Given the description of an element on the screen output the (x, y) to click on. 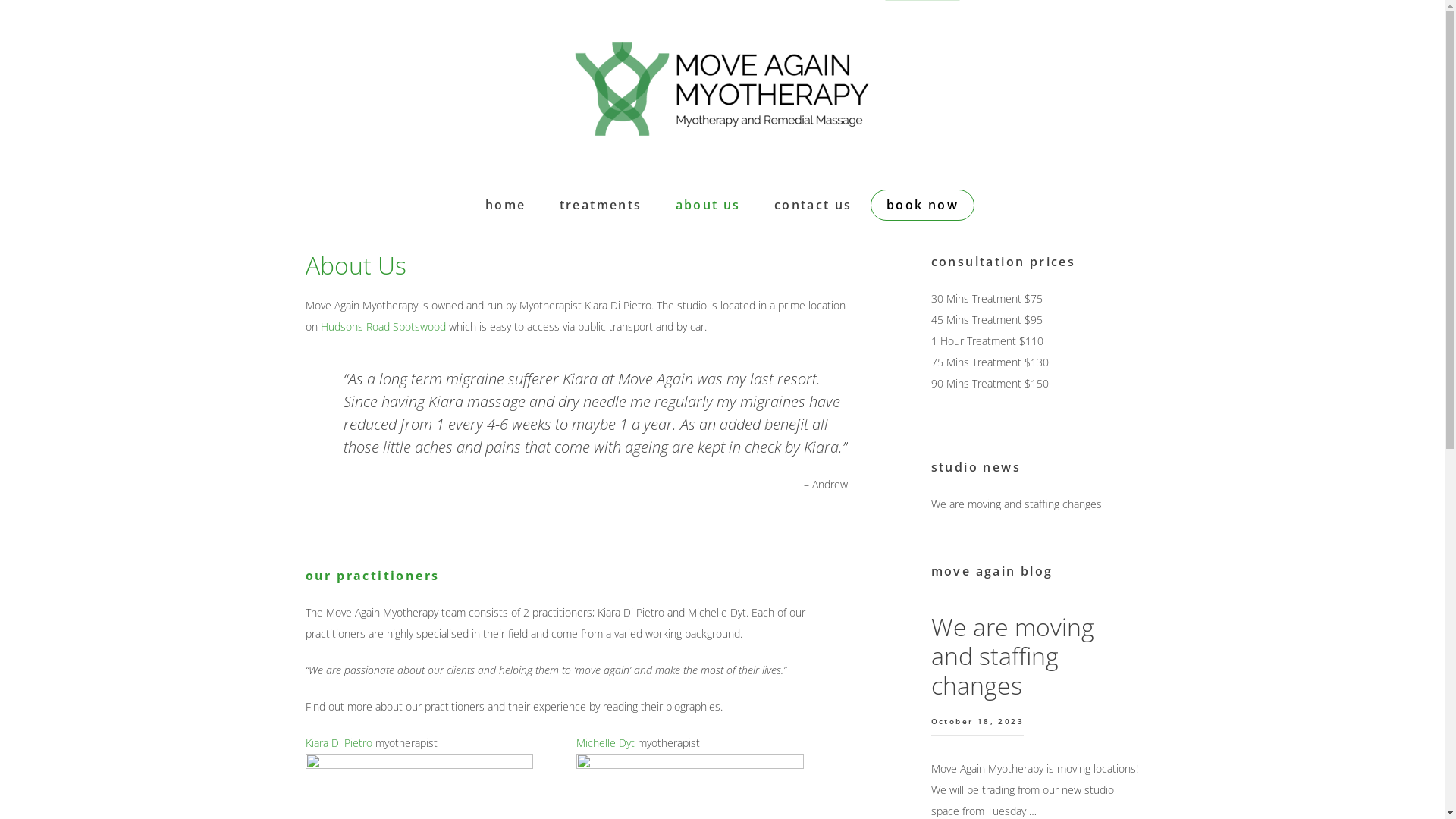
Move Again Myotherapy Element type: text (721, 94)
We are moving and staffing changes Element type: text (1016, 503)
Hudsons Road Spotswood Element type: text (382, 326)
treatments Element type: text (600, 204)
contact us Element type: text (813, 204)
book now Element type: text (922, 204)
home Element type: text (505, 204)
about us Element type: text (708, 204)
Kiara Di Pietro Element type: text (337, 742)
We are moving and staffing changes Element type: text (1012, 655)
Skip to main content Element type: text (0, 0)
Michelle Dyt Element type: text (606, 742)
